Given the description of an element on the screen output the (x, y) to click on. 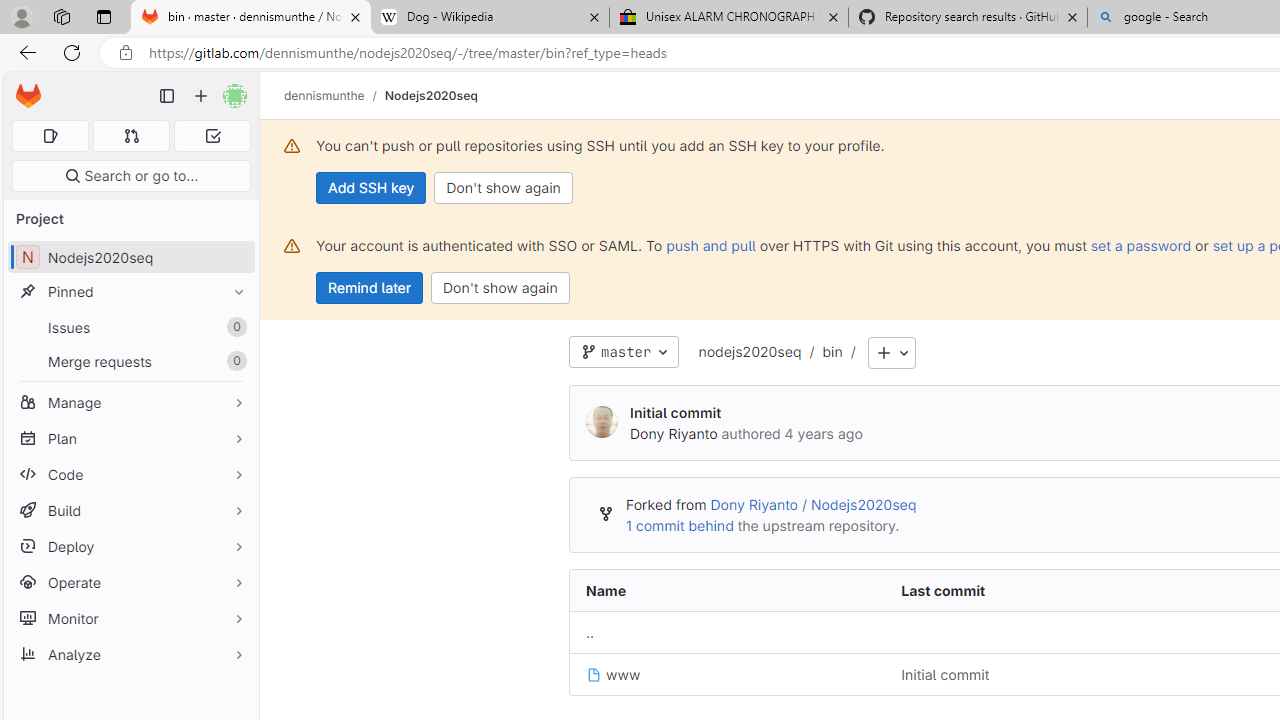
dennismunthe (324, 95)
Name (727, 591)
bin (832, 351)
Build (130, 510)
set a password (1140, 245)
NNodejs2020seq (130, 257)
Go to parent (590, 633)
nodejs2020seq (749, 353)
Monitor (130, 618)
